Given the description of an element on the screen output the (x, y) to click on. 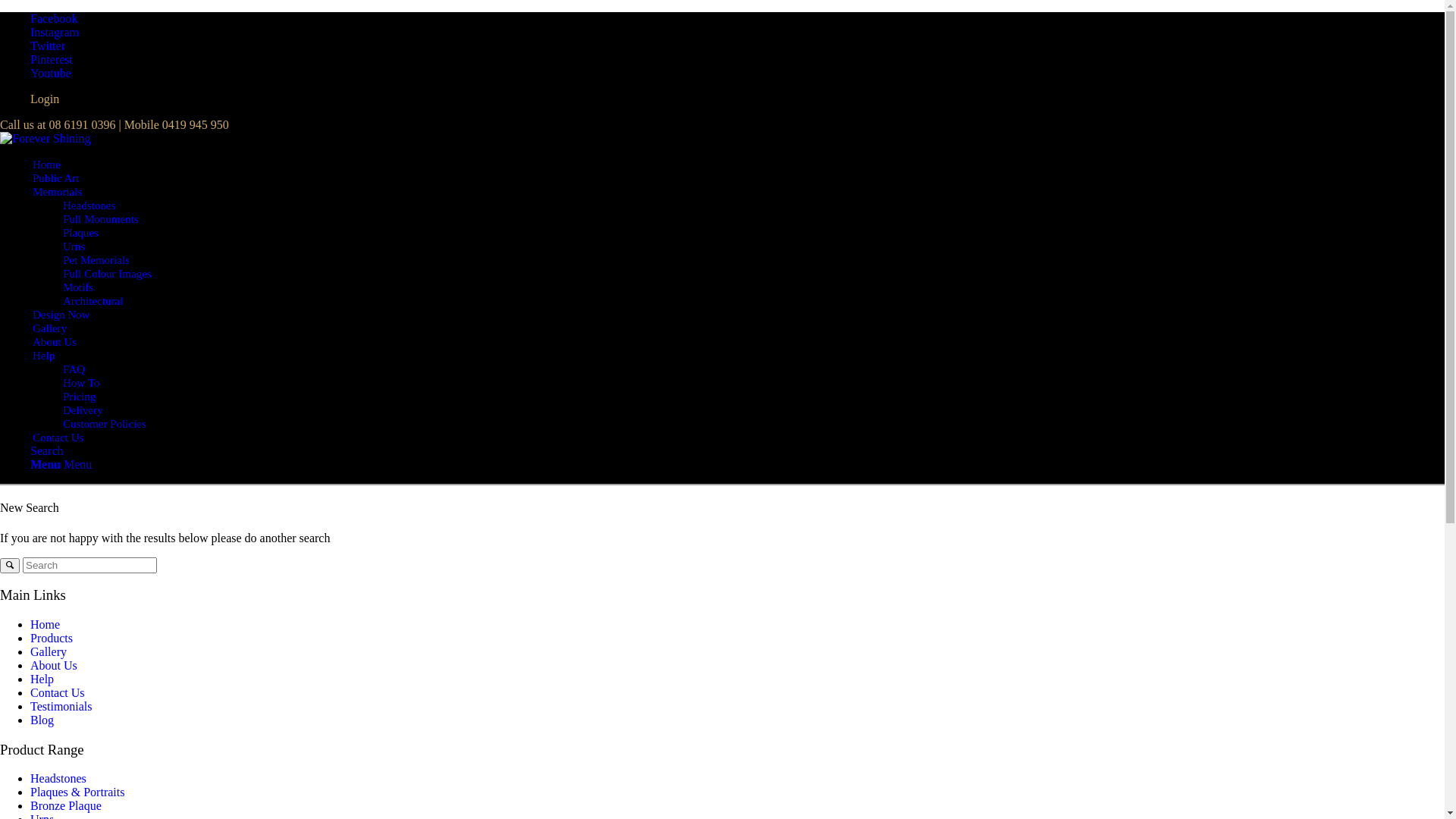
Contact Us Element type: text (57, 436)
Urns Element type: text (73, 245)
Gallery Element type: text (48, 651)
Headstones Element type: text (88, 204)
Customer Policies Element type: text (104, 423)
Twitter Element type: text (47, 45)
Plaques Element type: text (80, 231)
How To Element type: text (80, 382)
Home Element type: text (44, 624)
Login Element type: text (44, 98)
About Us Element type: text (53, 664)
Help Element type: text (41, 678)
Bronze Plaque Element type: text (65, 805)
Youtube Element type: text (50, 72)
Pricing Element type: text (78, 395)
Blog Element type: text (41, 719)
About Us Element type: text (54, 341)
Design Now Element type: text (60, 313)
Motifs Element type: text (77, 286)
Public Art Element type: text (55, 177)
Full Colour Images Element type: text (106, 272)
Instagram Element type: text (54, 31)
Testimonials Element type: text (61, 705)
Full Monuments Element type: text (100, 218)
Pet Memorials Element type: text (95, 259)
Home Element type: text (46, 163)
Architectural Element type: text (92, 300)
Contact Us Element type: text (57, 692)
Search Element type: text (46, 450)
Pinterest Element type: text (51, 59)
Facebook Element type: text (53, 18)
Help Element type: text (43, 354)
FAQ Element type: text (73, 368)
Menu Menu Element type: text (60, 464)
Memorials Element type: text (57, 191)
Products Element type: text (51, 637)
Delivery Element type: text (82, 409)
Gallery Element type: text (49, 327)
Headstones Element type: text (58, 777)
Plaques & Portraits Element type: text (77, 791)
